Given the description of an element on the screen output the (x, y) to click on. 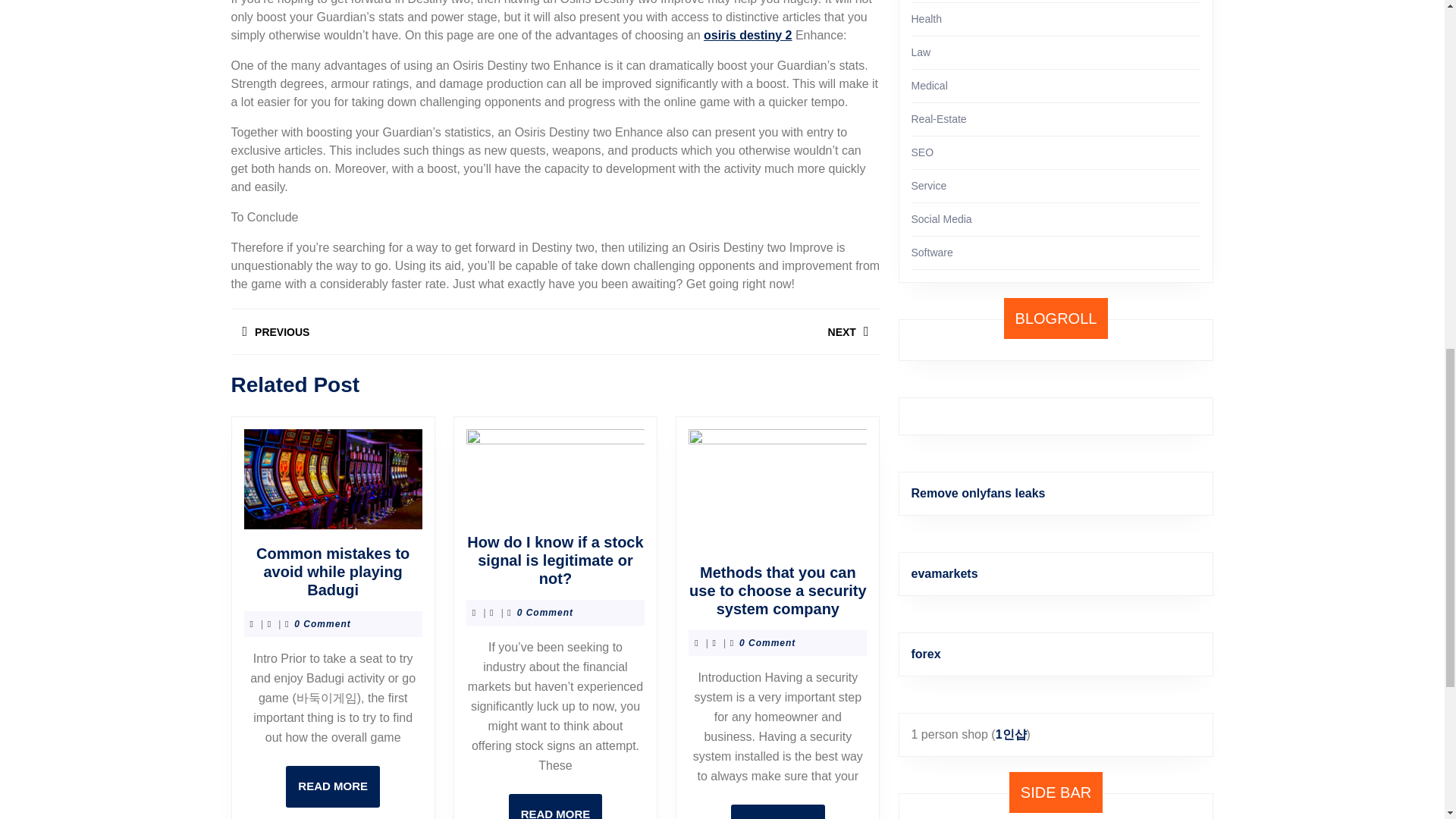
osiris destiny 2 (716, 330)
